Given the description of an element on the screen output the (x, y) to click on. 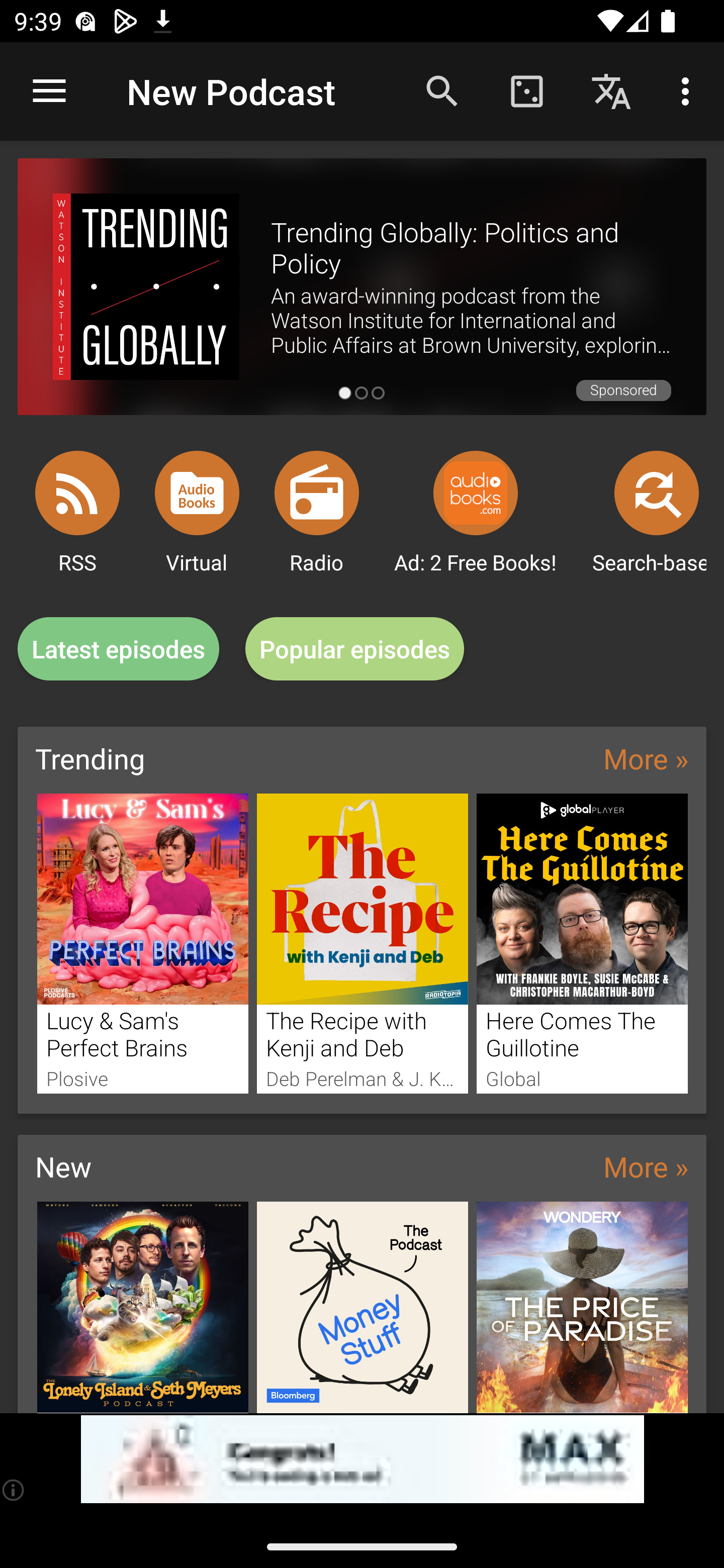
Open navigation sidebar (49, 91)
Search (442, 90)
Random pick (526, 90)
Podcast languages (611, 90)
More options (688, 90)
RSS (77, 492)
Virtual (196, 492)
Radio (316, 492)
Search-based (656, 492)
Latest episodes (118, 648)
Popular episodes (354, 648)
More » (645, 757)
Lucy & Sam's Perfect Brains Plosive (142, 942)
Here Comes The Guillotine Global (581, 942)
More » (645, 1166)
The Lonely Island and Seth Meyers Podcast (142, 1306)
Money Stuff: The Podcast (362, 1306)
The Price of Paradise (581, 1306)
app-monetization (362, 1459)
(i) (14, 1489)
